Given the description of an element on the screen output the (x, y) to click on. 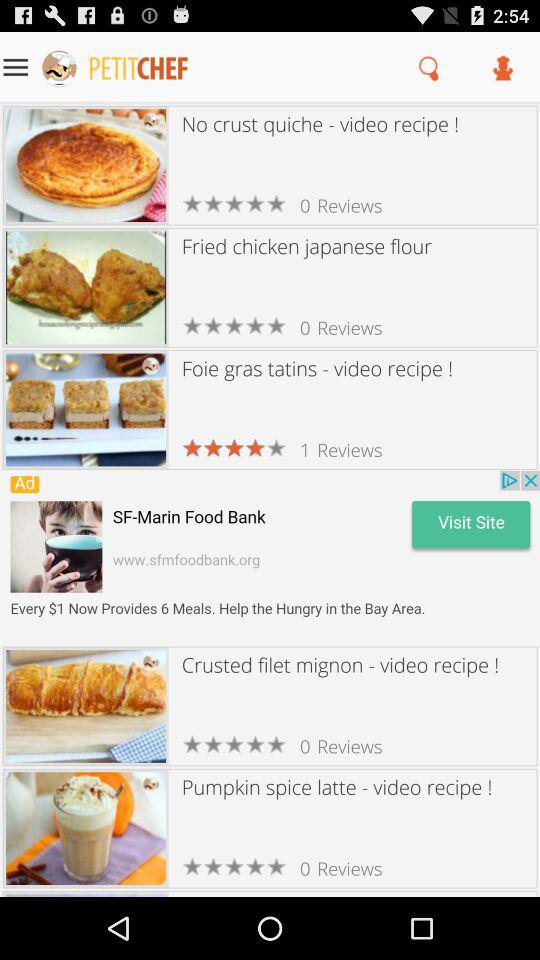
advertisements image (270, 557)
